Given the description of an element on the screen output the (x, y) to click on. 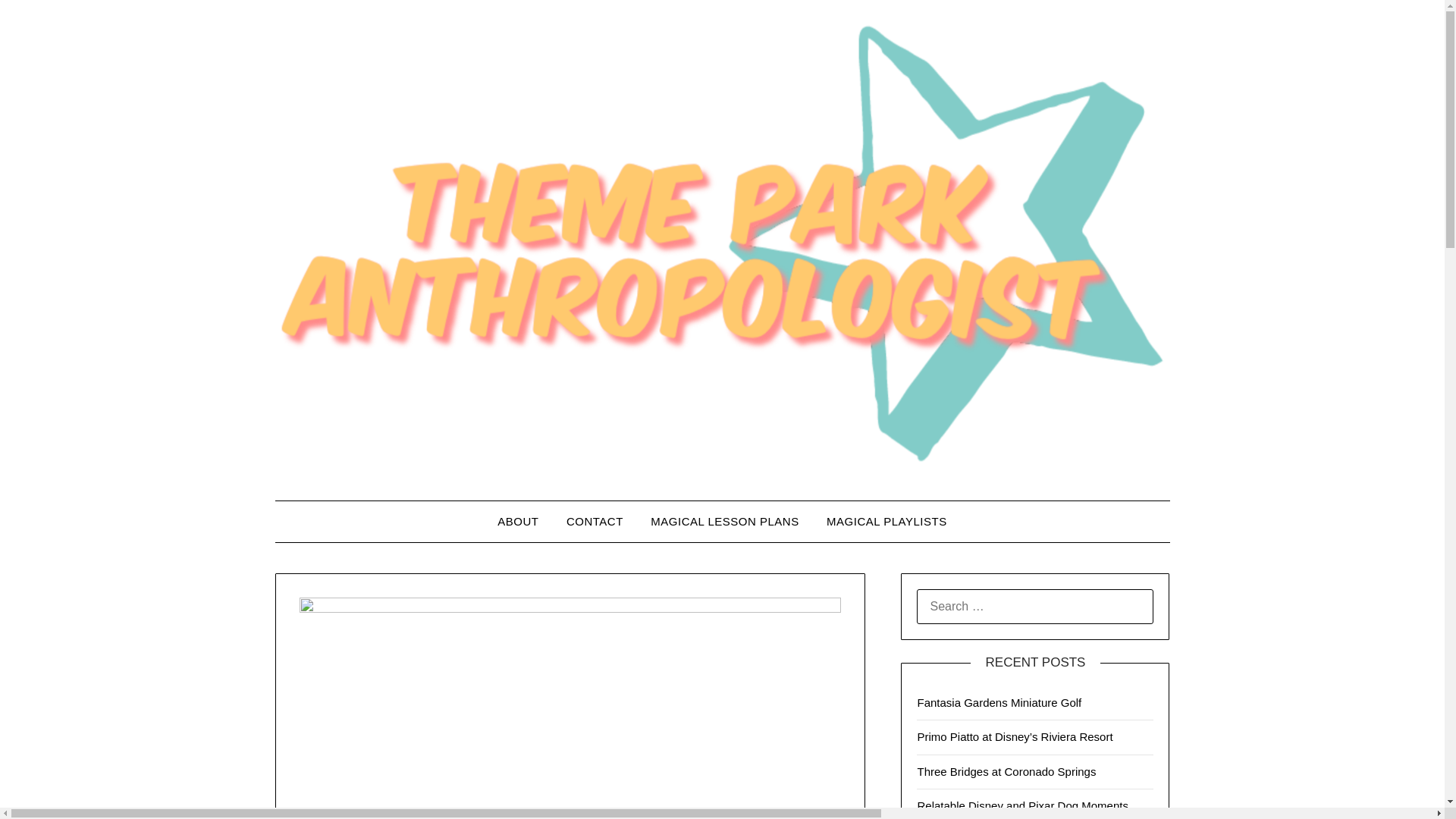
MAGICAL LESSON PLANS (724, 521)
Relatable Disney and Pixar Dog Moments (1021, 805)
Fantasia Gardens Miniature Golf (999, 702)
Search (38, 22)
Three Bridges at Coronado Springs (1006, 771)
ABOUT (517, 521)
MAGICAL PLAYLISTS (886, 521)
CONTACT (594, 521)
